Given the description of an element on the screen output the (x, y) to click on. 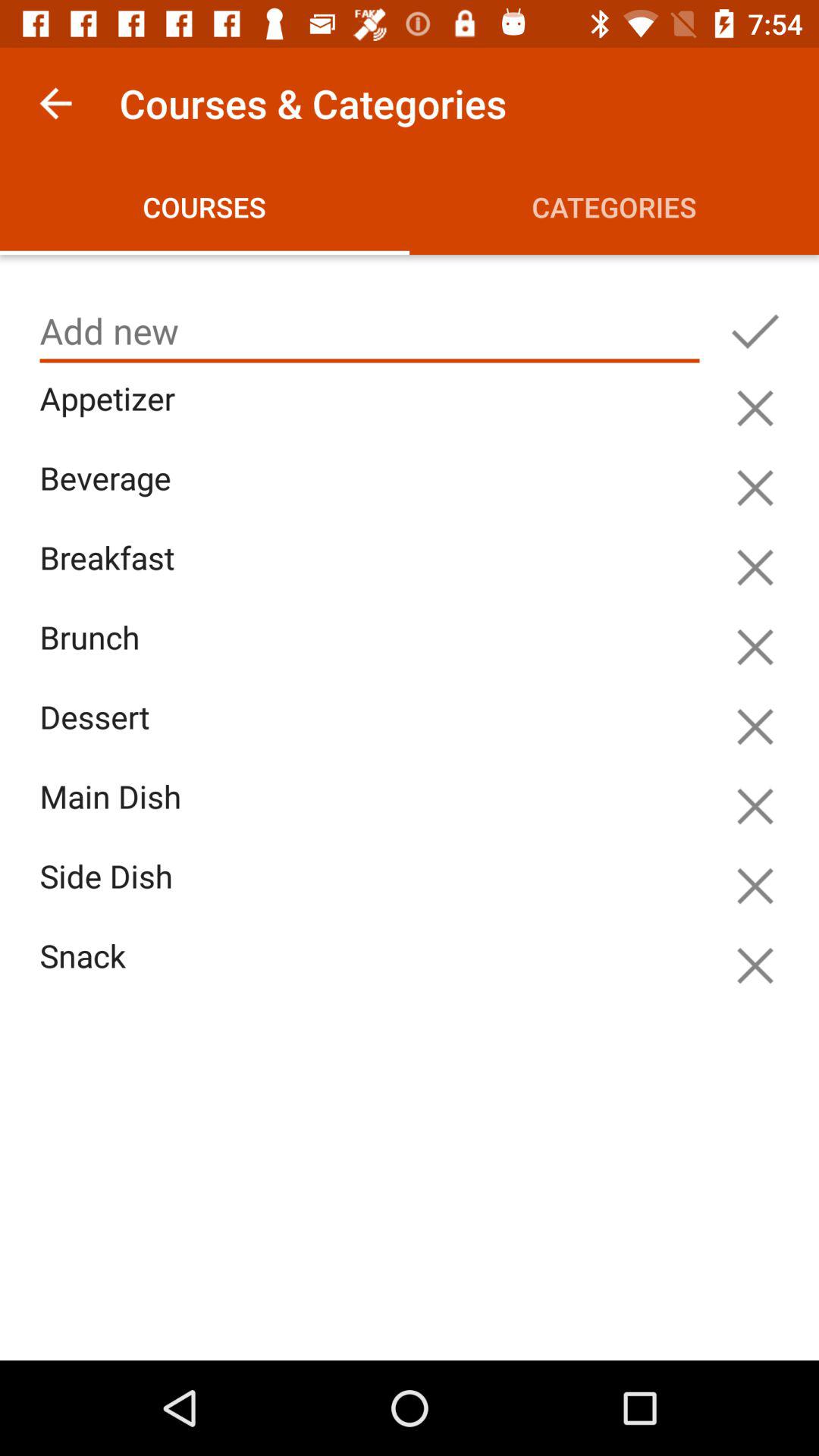
deleter (755, 408)
